Given the description of an element on the screen output the (x, y) to click on. 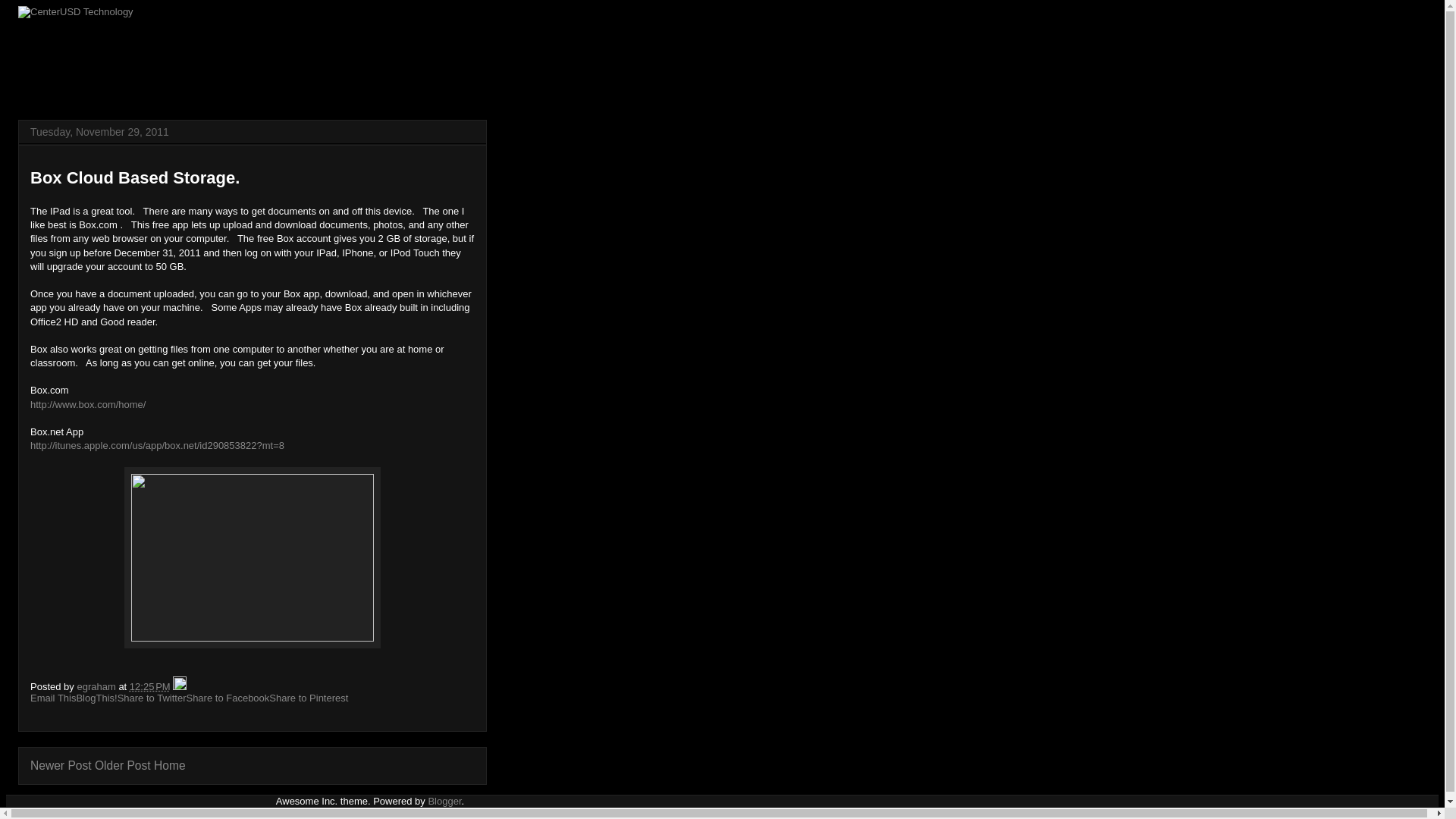
Edit Post (179, 686)
BlogThis! (95, 697)
egraham (97, 686)
permanent link (149, 686)
Older Post (122, 765)
Share to Facebook (227, 697)
author profile (97, 686)
Newer Post (60, 765)
Email This (52, 697)
Email This (52, 697)
Share to Pinterest (308, 697)
BlogThis! (95, 697)
Share to Twitter (151, 697)
Newer Post (60, 765)
